Given the description of an element on the screen output the (x, y) to click on. 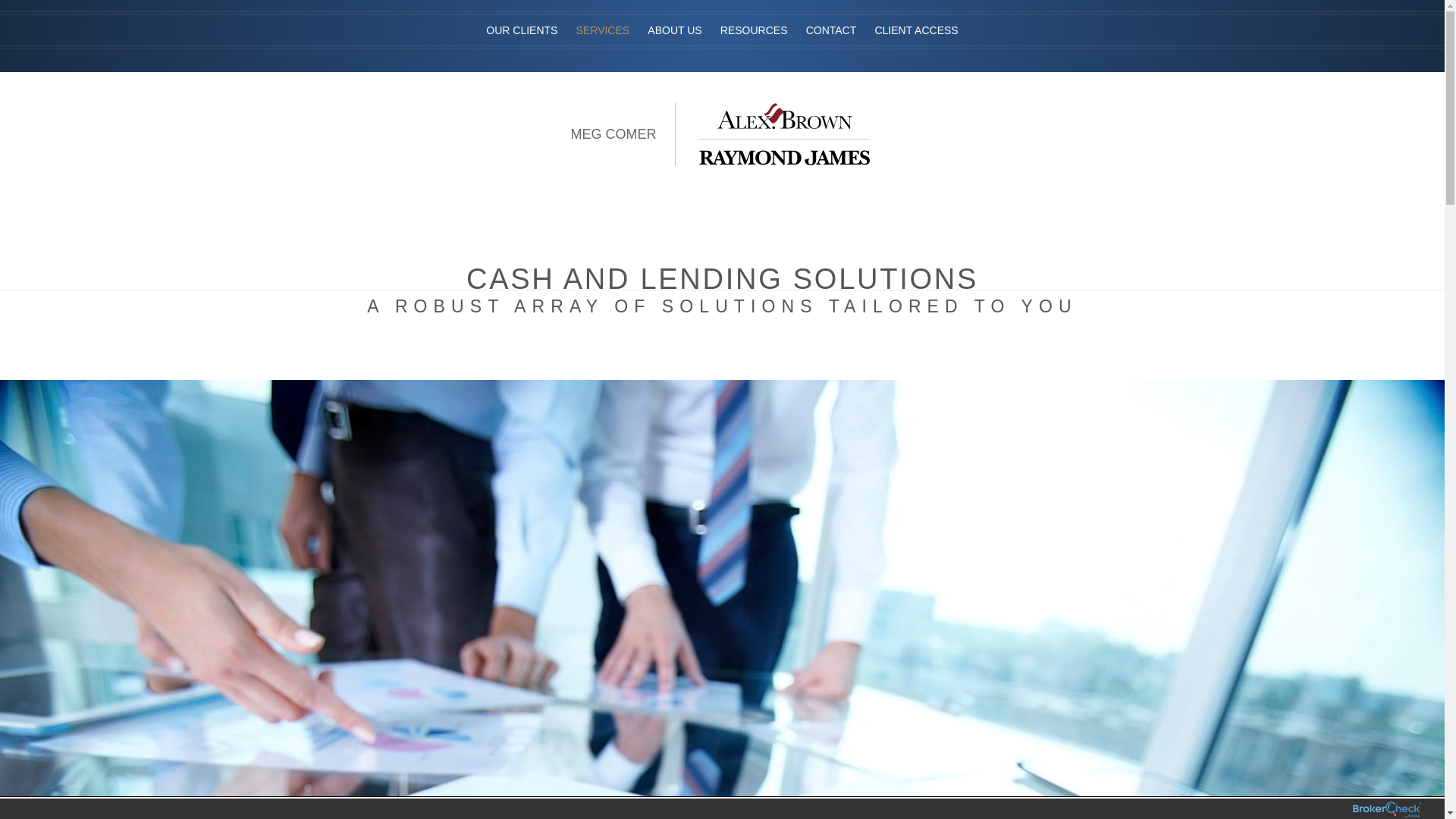
OUR CLIENTS (521, 16)
ABOUT US (674, 30)
SERVICES (603, 30)
